Given the description of an element on the screen output the (x, y) to click on. 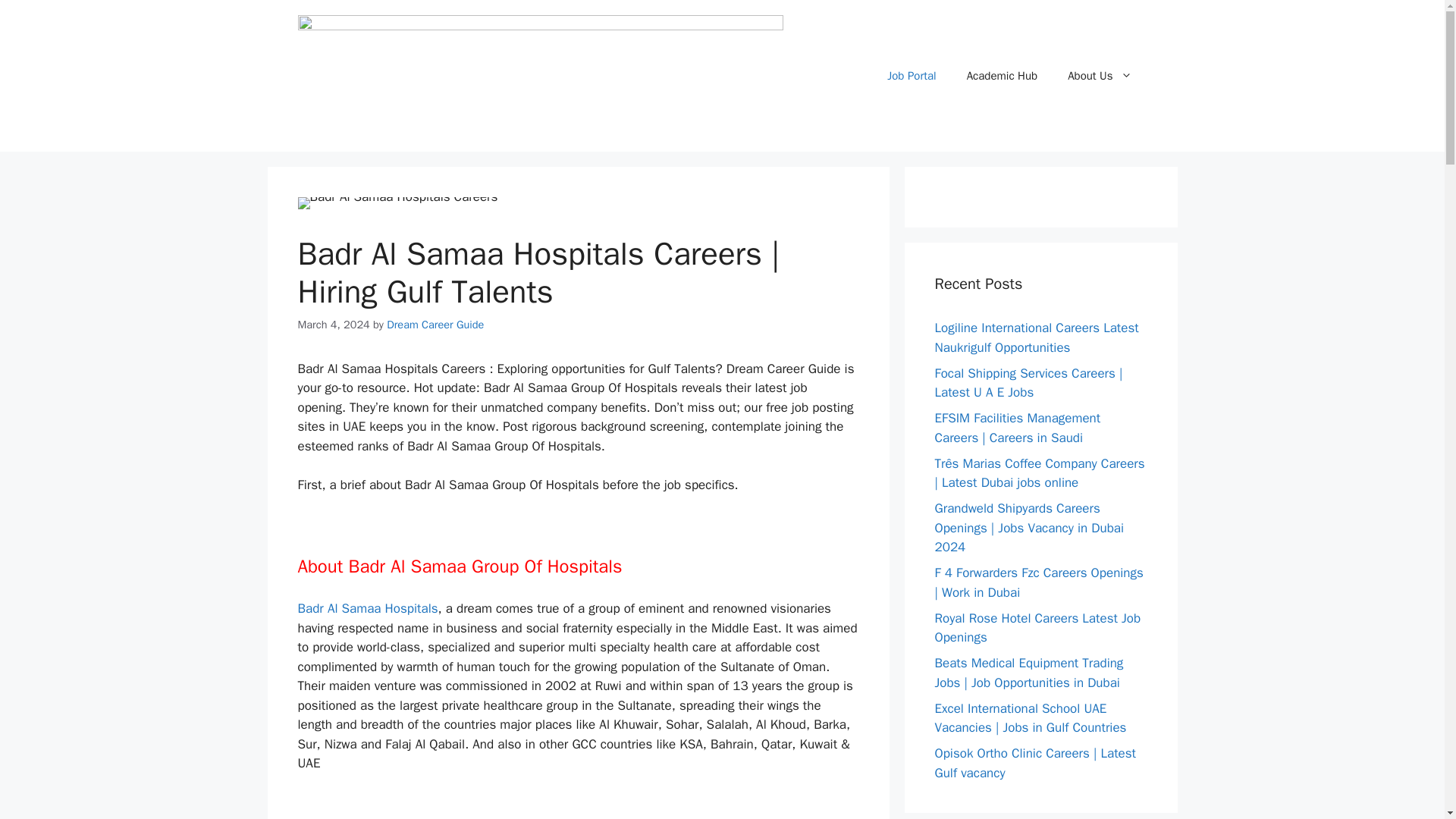
Dream Career Guide (435, 324)
Academic Hub (1002, 75)
Royal Rose Hotel Careers Latest Job Openings (1037, 627)
Job Portal (911, 75)
Badr Al Samaa Hospitals (367, 608)
View all posts by Dream Career Guide (435, 324)
About Us (1099, 75)
